Given the description of an element on the screen output the (x, y) to click on. 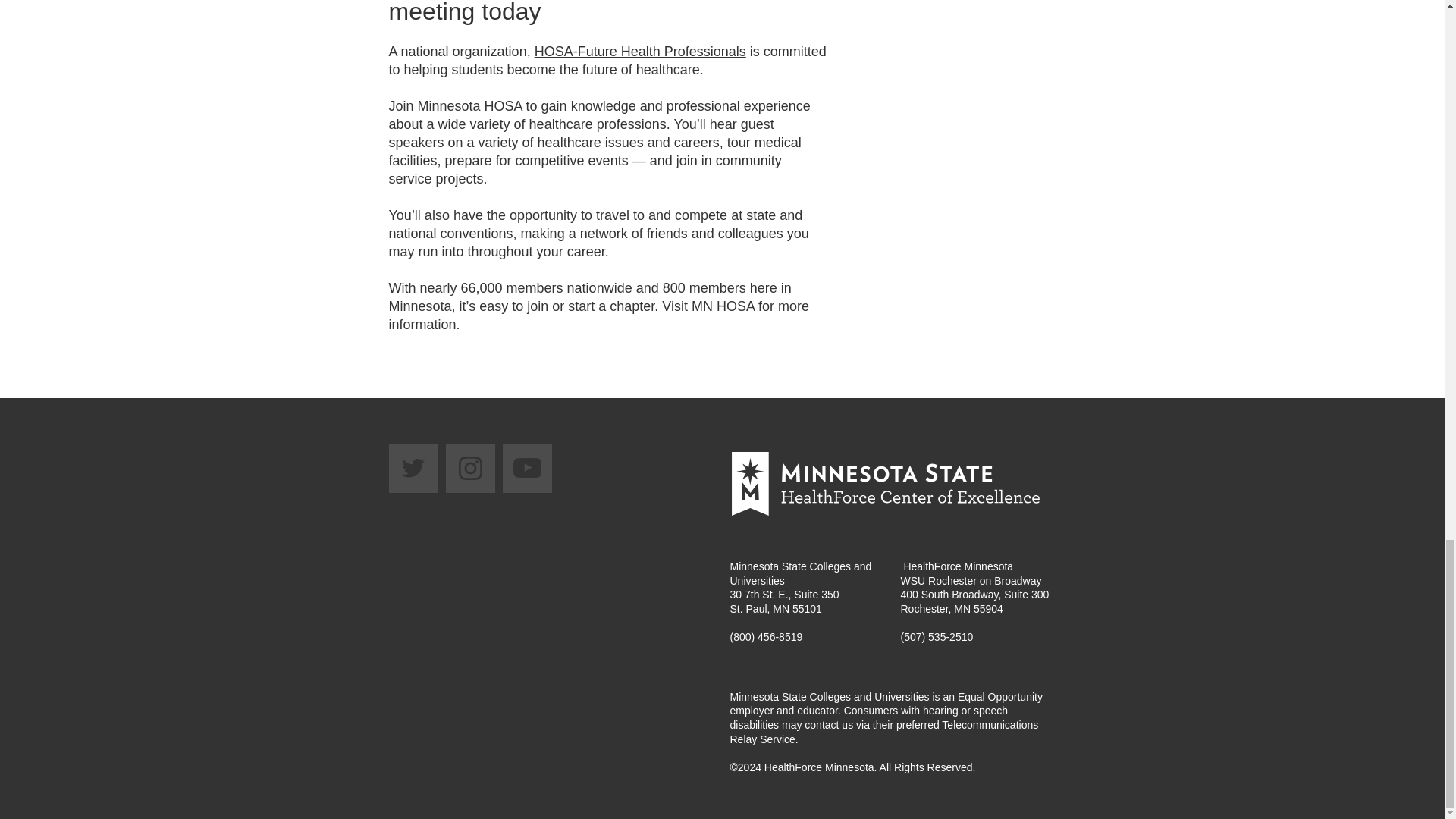
Instagram (470, 468)
Twitter (413, 468)
MN HOSA (722, 305)
HOSA-Future Health Professionals (639, 51)
YouTube (526, 468)
